Given the description of an element on the screen output the (x, y) to click on. 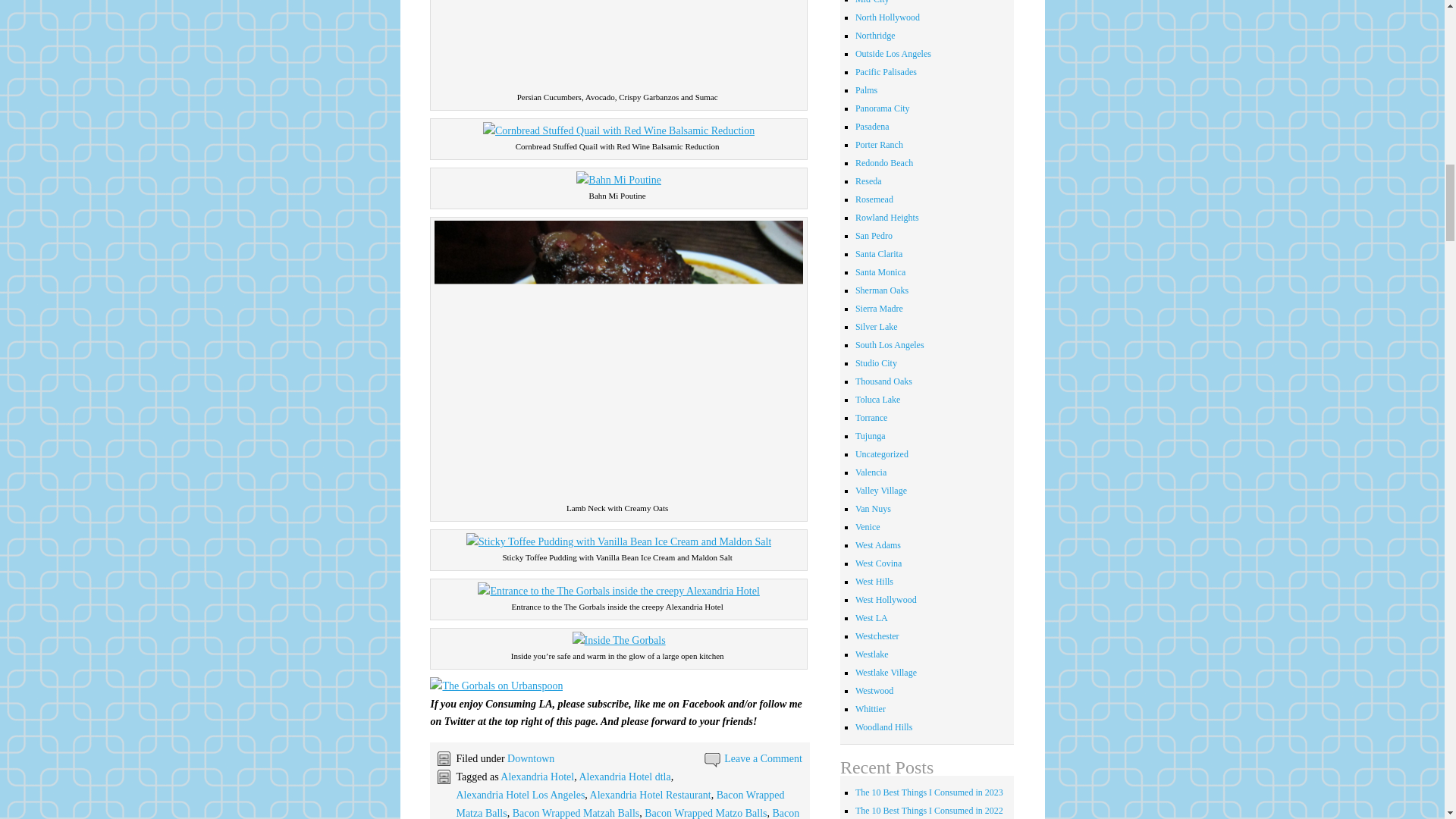
Bacon Wrapped Matzo Balls (706, 813)
Alexandria Hotel Los Angeles (520, 794)
Bacon Wrapped Matzoh Balls (627, 813)
Alexandria Hotel dtla (623, 776)
Alexandria Hotel (536, 776)
Leave a Comment (762, 758)
Alexandria Hotel Restaurant (650, 794)
Bacon Wrapped Matzah Balls (576, 813)
Bacon Wrapped Matza Balls (619, 804)
Downtown (530, 758)
